Given the description of an element on the screen output the (x, y) to click on. 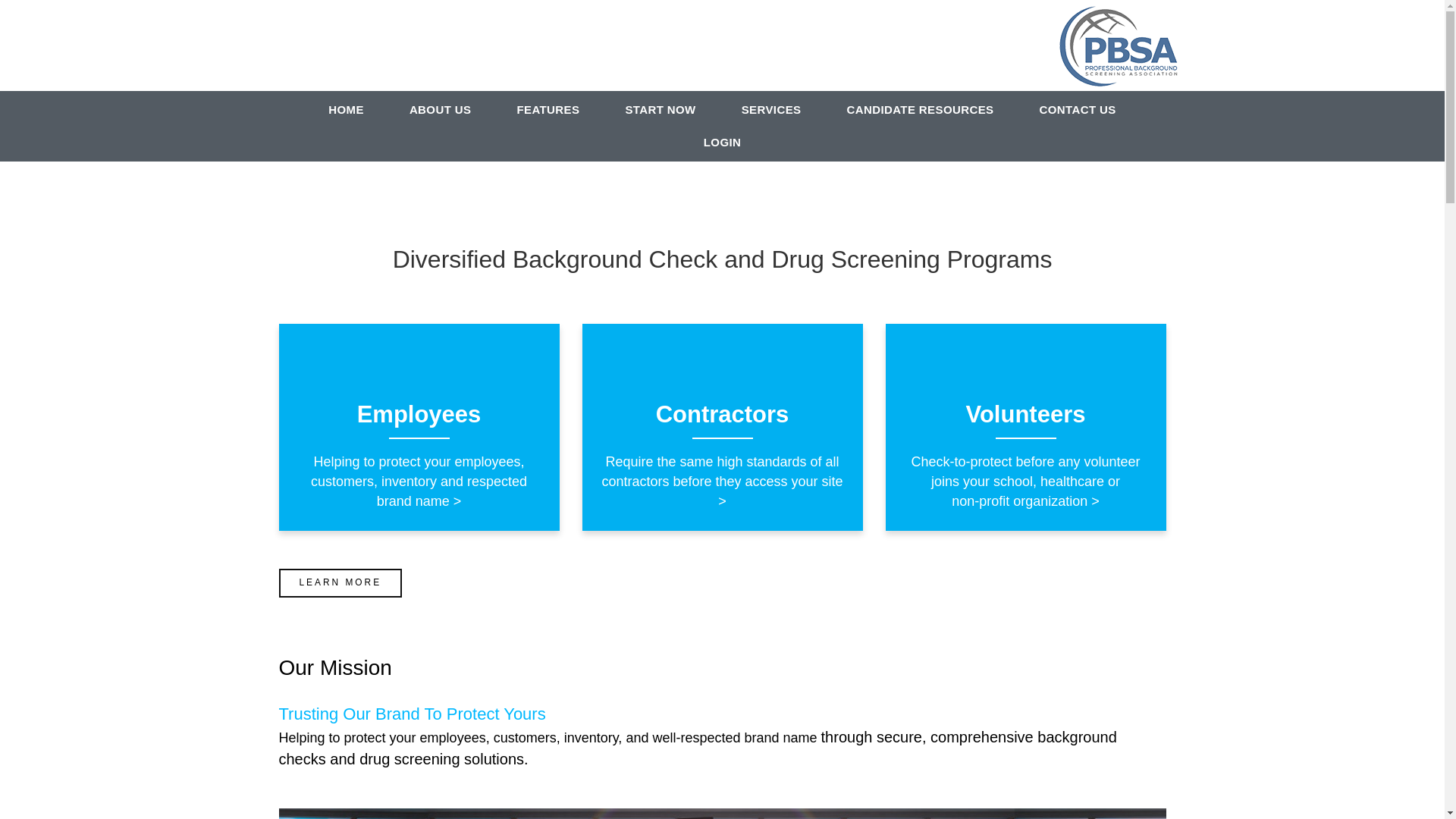
SERVICES Element type: text (771, 110)
HOME Element type: text (345, 110)
FEATURES Element type: text (547, 110)
PBSA Element type: hover (1117, 45)
ABOUT US Element type: text (440, 110)
CONTACT US Element type: text (1077, 110)
Volunteers Element type: text (1025, 414)
Contractors Element type: text (722, 414)
LOGIN Element type: text (722, 143)
CANDIDATE RESOURCES Element type: text (919, 110)
Employees Element type: text (419, 414)
LEARN MORE Element type: text (340, 582)
START NOW Element type: text (660, 110)
